Given the description of an element on the screen output the (x, y) to click on. 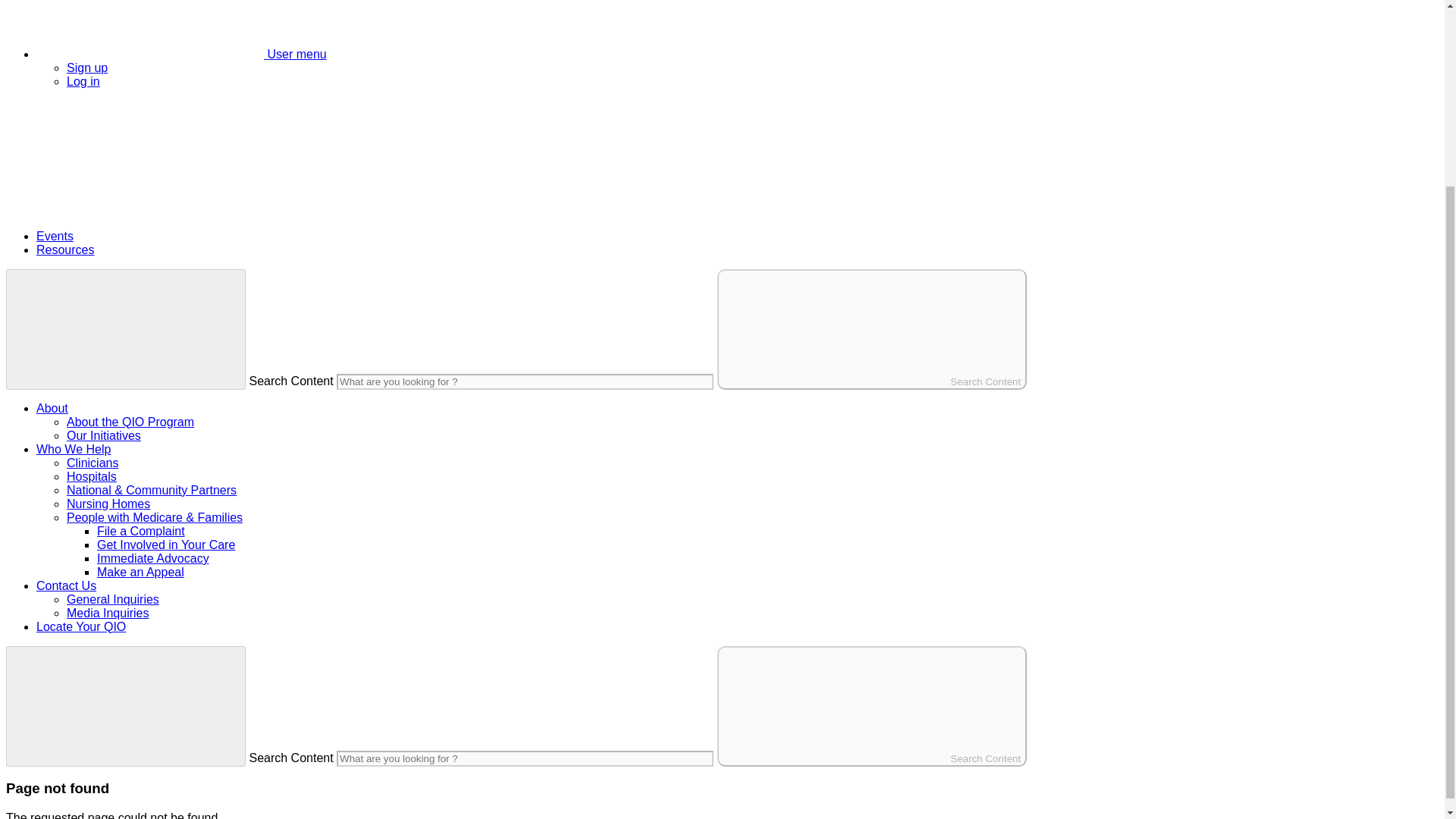
User menu (149, 29)
Close search window (125, 706)
About (52, 408)
Our Initiatives (103, 435)
Nursing Homes (107, 503)
About the QIO Program (129, 421)
Search (118, 210)
Resources (65, 249)
Contact Us (66, 585)
User menu (181, 53)
Close search window (125, 327)
Search (118, 157)
User menu User menu (181, 53)
Clinicians (91, 462)
Sign up (86, 67)
